Given the description of an element on the screen output the (x, y) to click on. 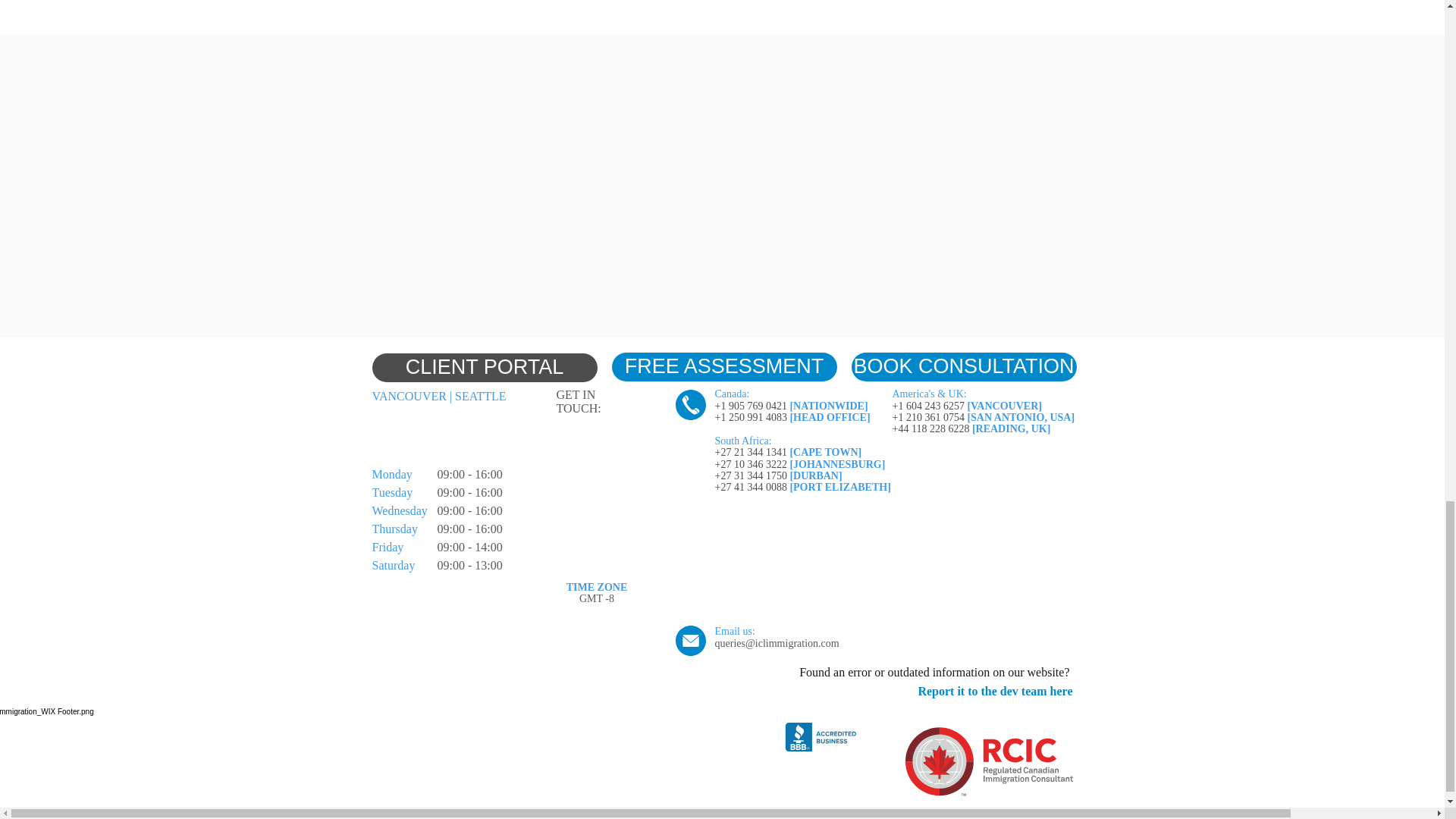
WIX Footer.png (546, 761)
